Given the description of an element on the screen output the (x, y) to click on. 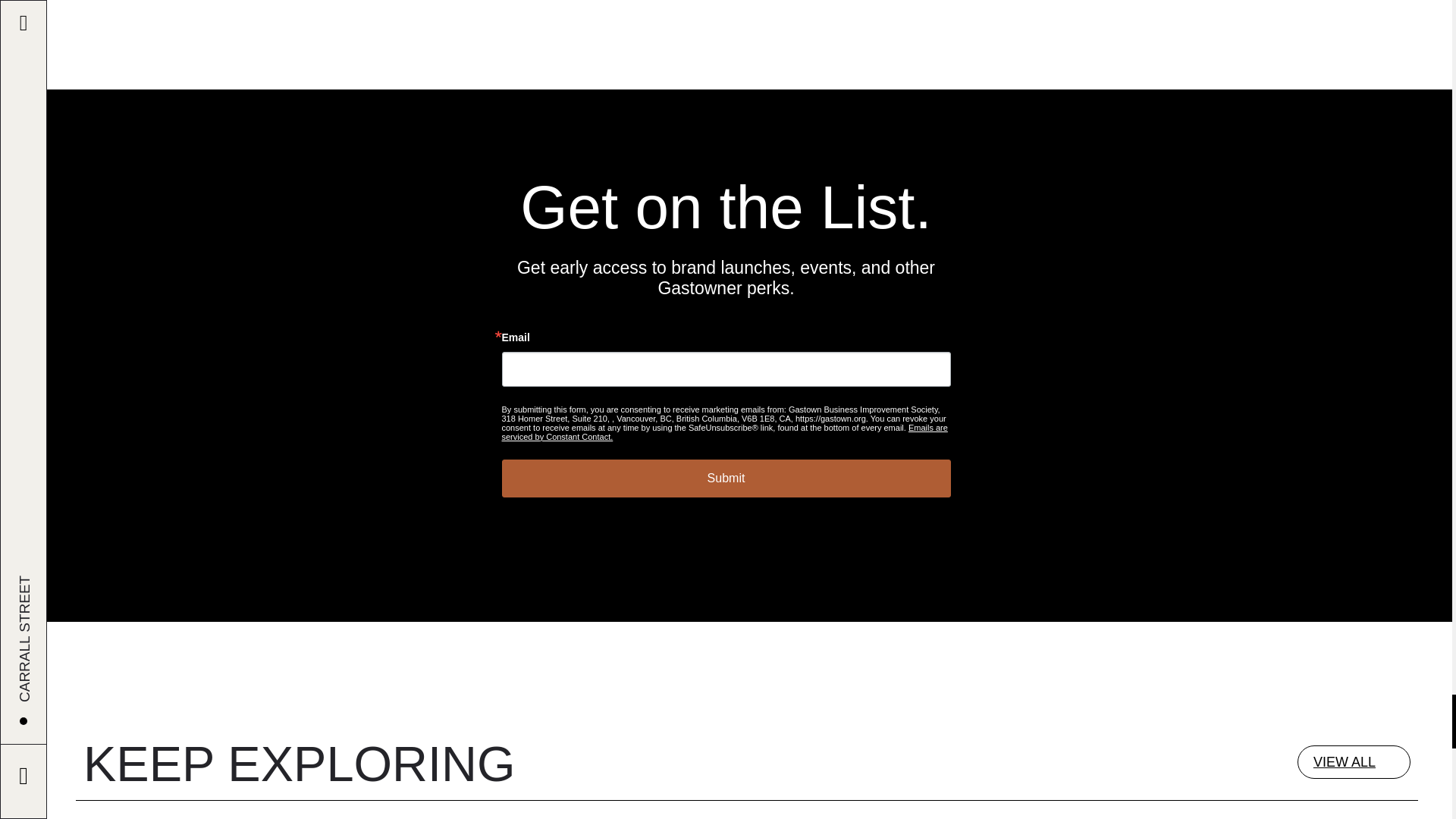
Submit (726, 478)
VIEW ALL (1353, 761)
Emails are serviced by Constant Contact. (724, 432)
